Given the description of an element on the screen output the (x, y) to click on. 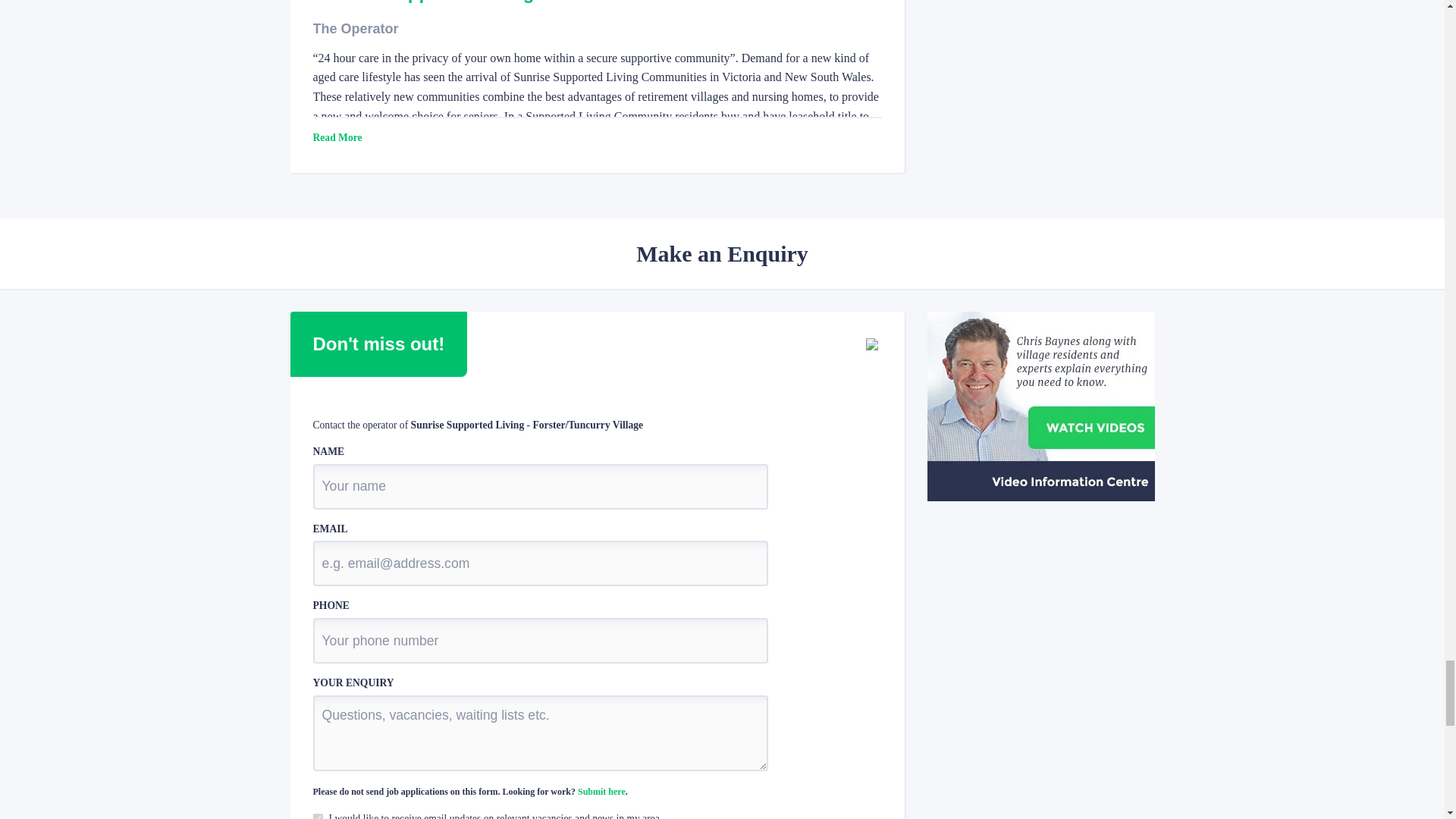
true (317, 816)
